Given the description of an element on the screen output the (x, y) to click on. 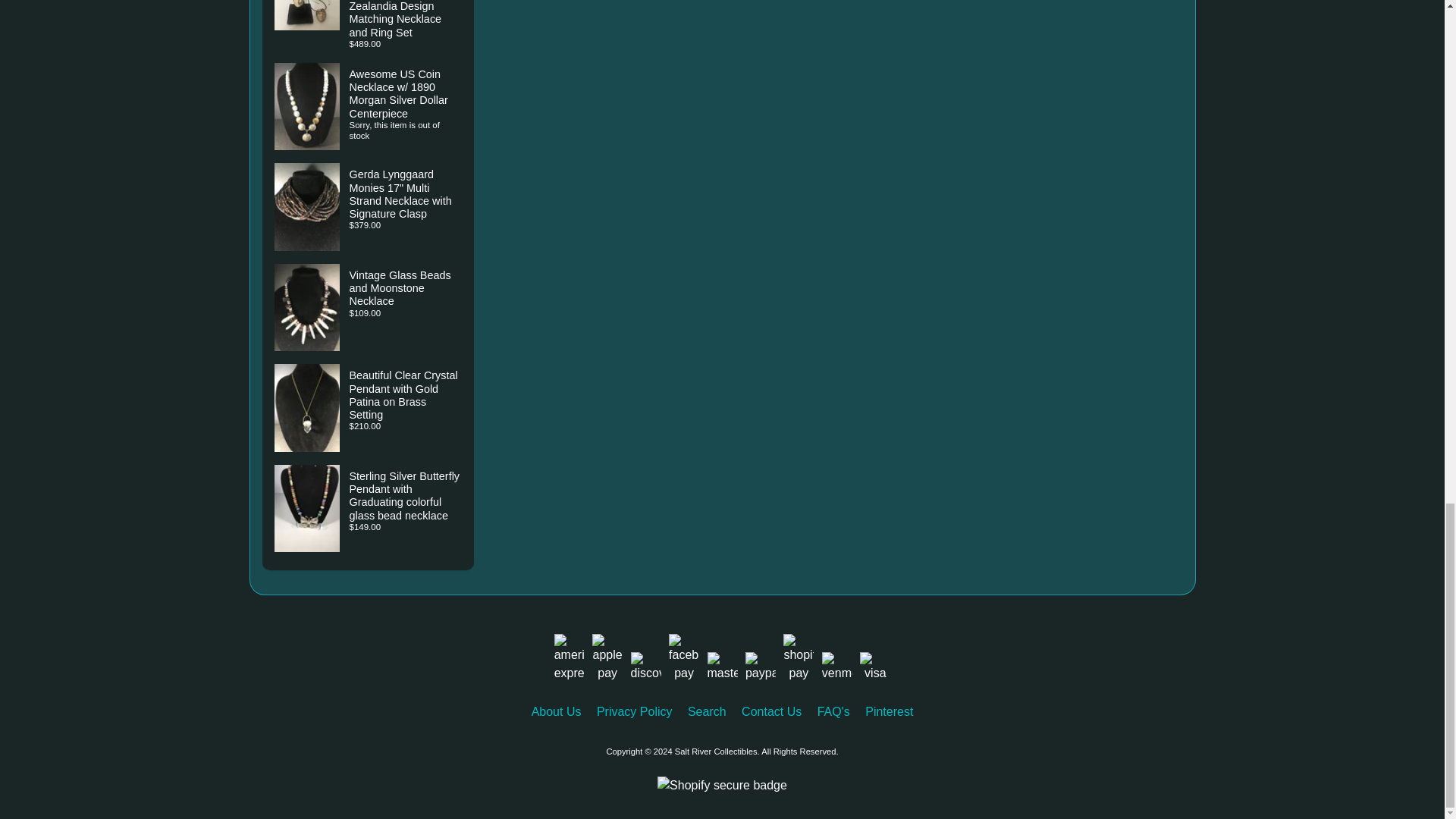
Vintage Glass Beads and Moonstone Necklace (369, 307)
